Given the description of an element on the screen output the (x, y) to click on. 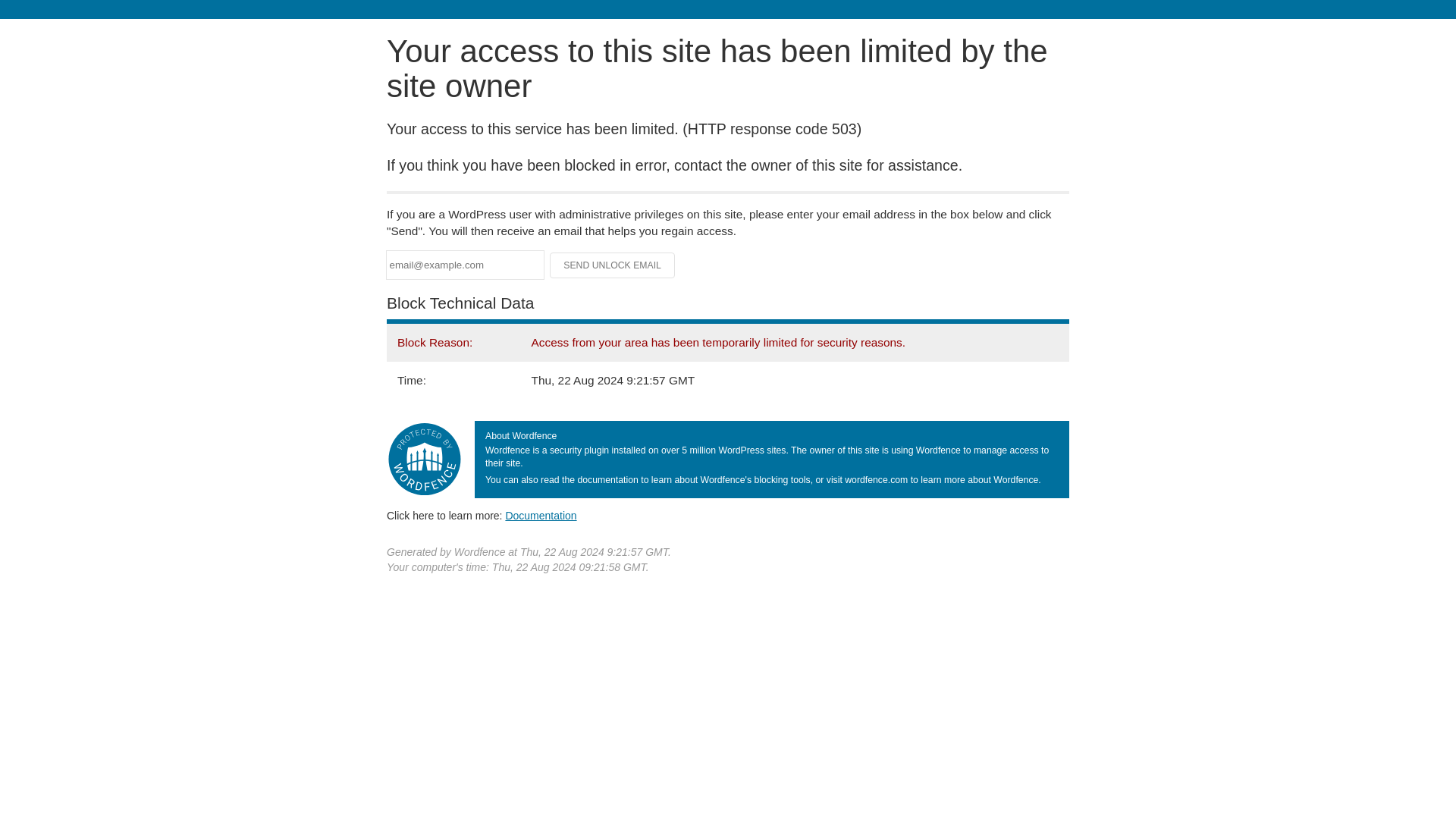
Send Unlock Email (612, 265)
Send Unlock Email (612, 265)
Documentation (540, 515)
